Given the description of an element on the screen output the (x, y) to click on. 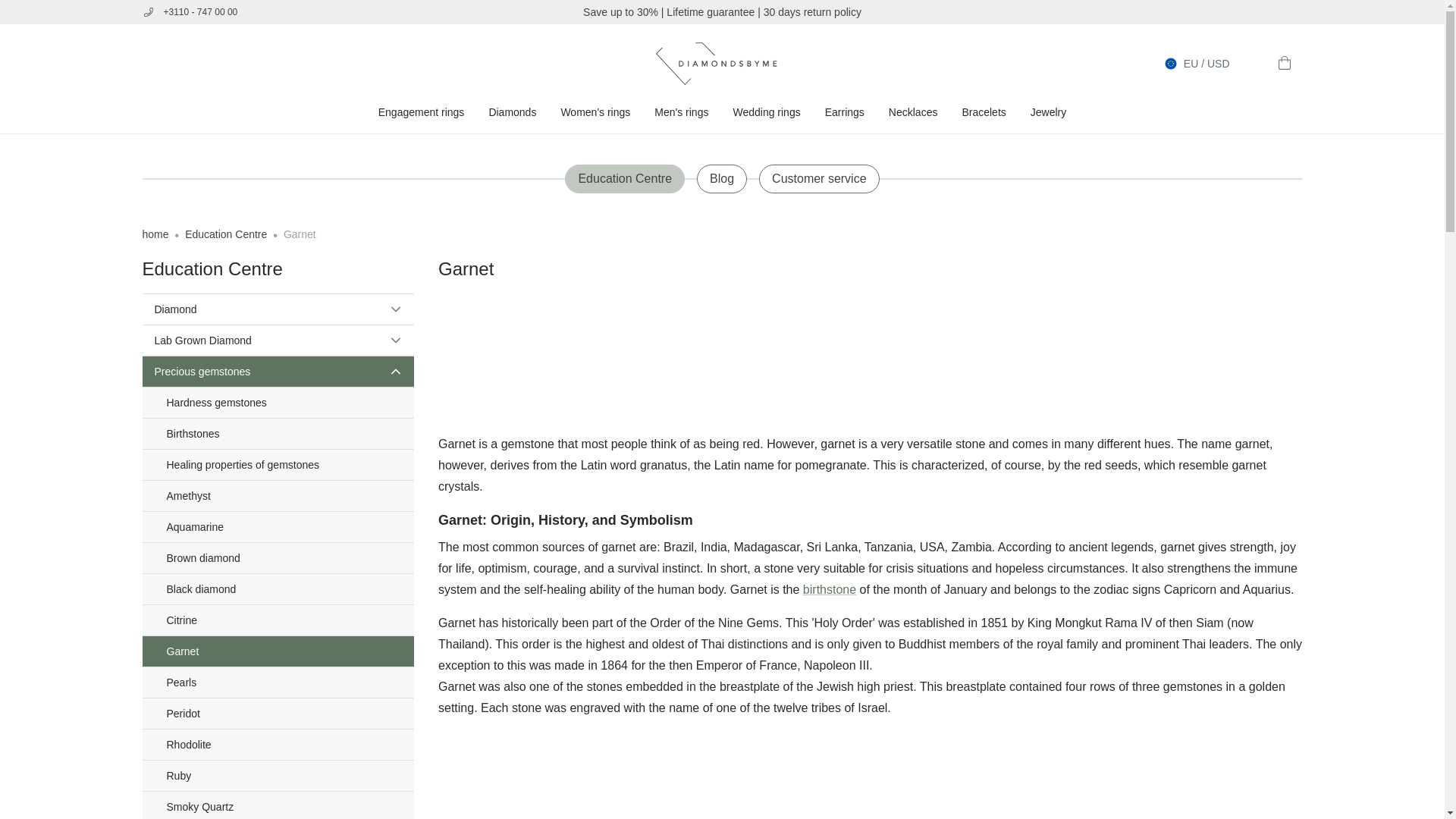
Engagement rings (421, 111)
Engagement rings (421, 111)
Call customer support (253, 12)
Diamonds By Me (722, 63)
